Given the description of an element on the screen output the (x, y) to click on. 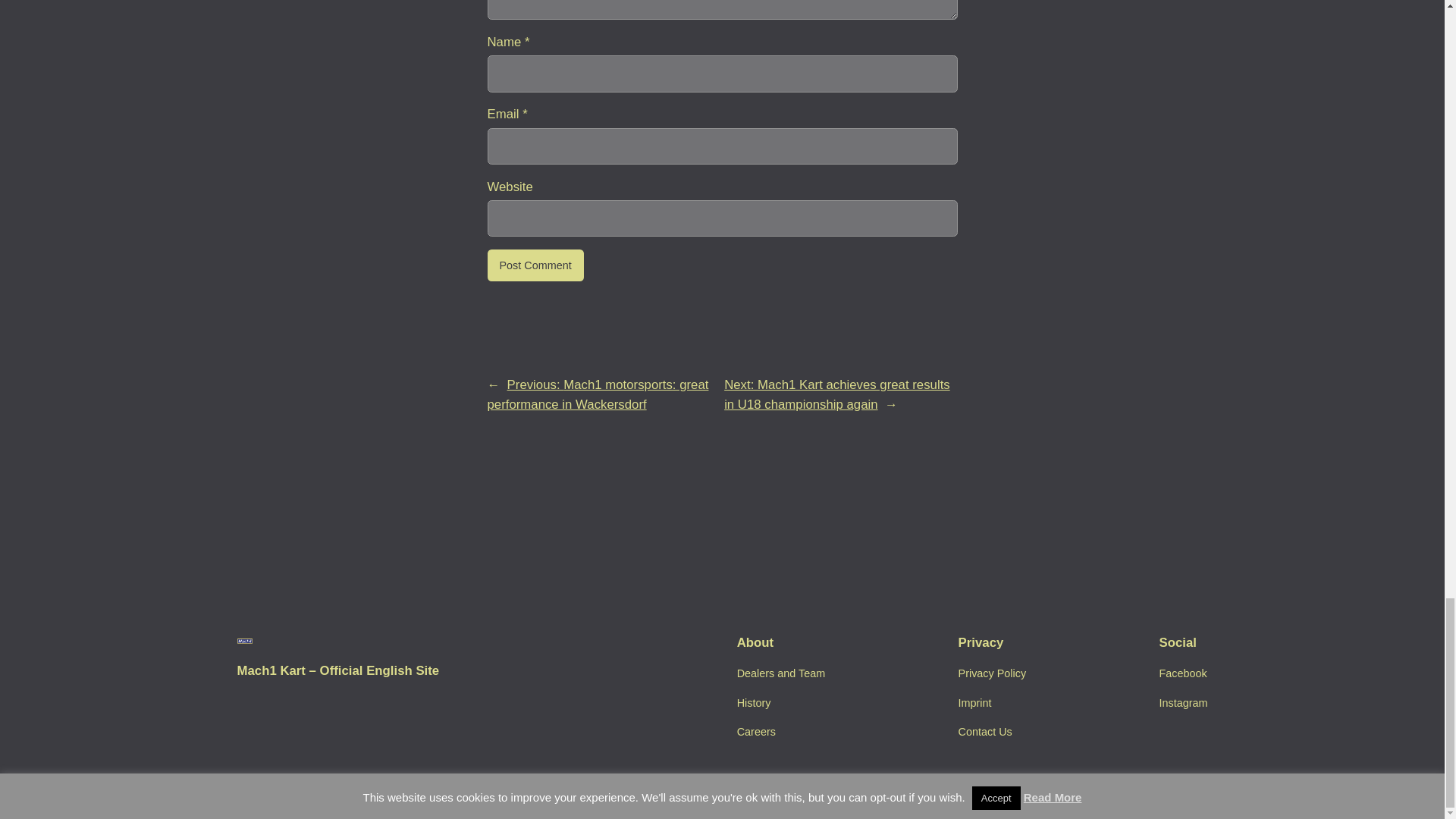
Post Comment (534, 265)
